Given the description of an element on the screen output the (x, y) to click on. 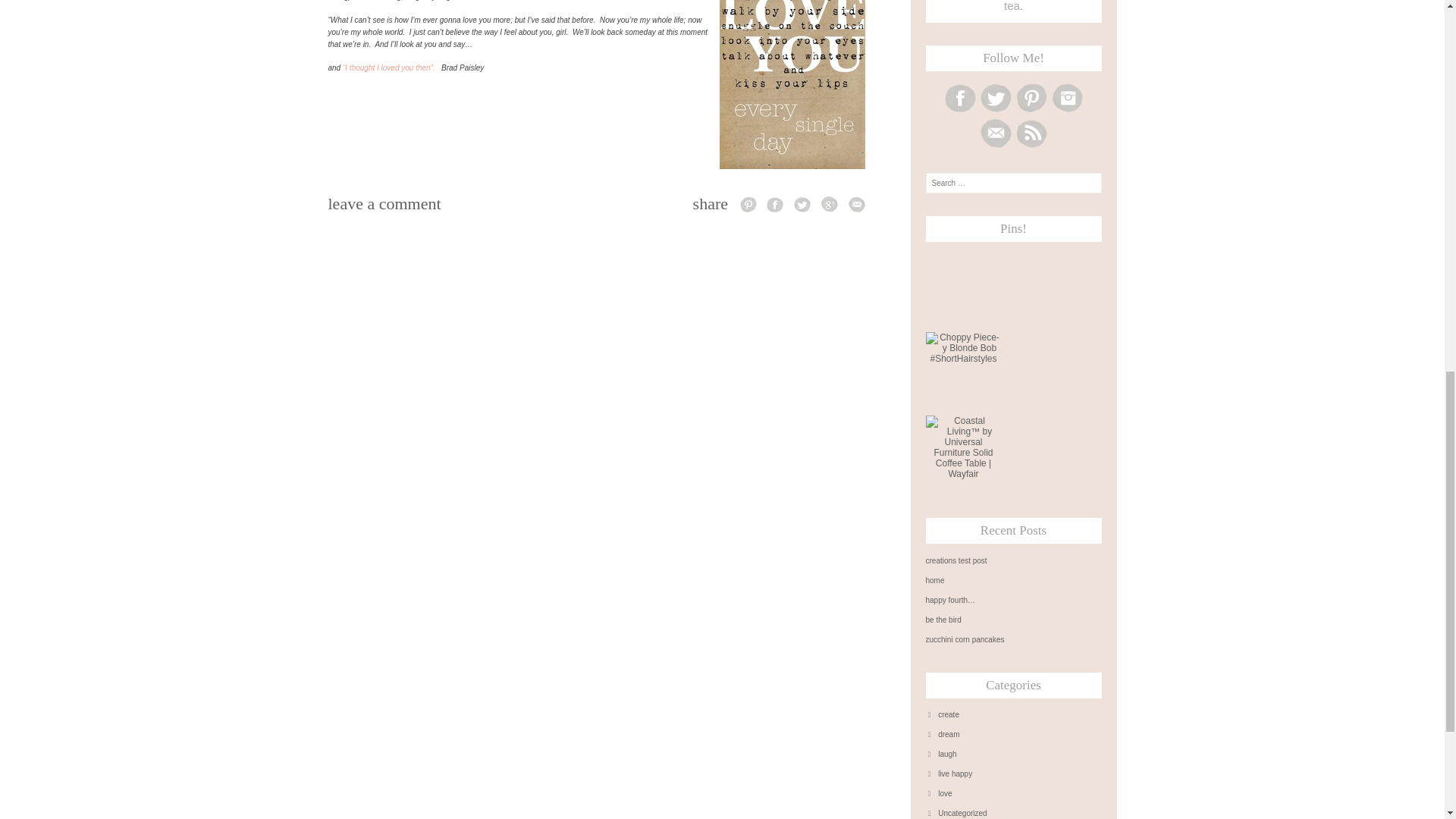
leave a comment (384, 203)
creations test post (1012, 561)
 - Pinned on Apr 11, 2021 (1046, 337)
 - Pinned on Apr 11, 2021 (1046, 253)
 - Pinned on Apr 11, 2021 (1046, 420)
 - Pinned on Aug 16, 2021 (962, 253)
Share by Email (855, 203)
I thought i loved you then (390, 67)
